Given the description of an element on the screen output the (x, y) to click on. 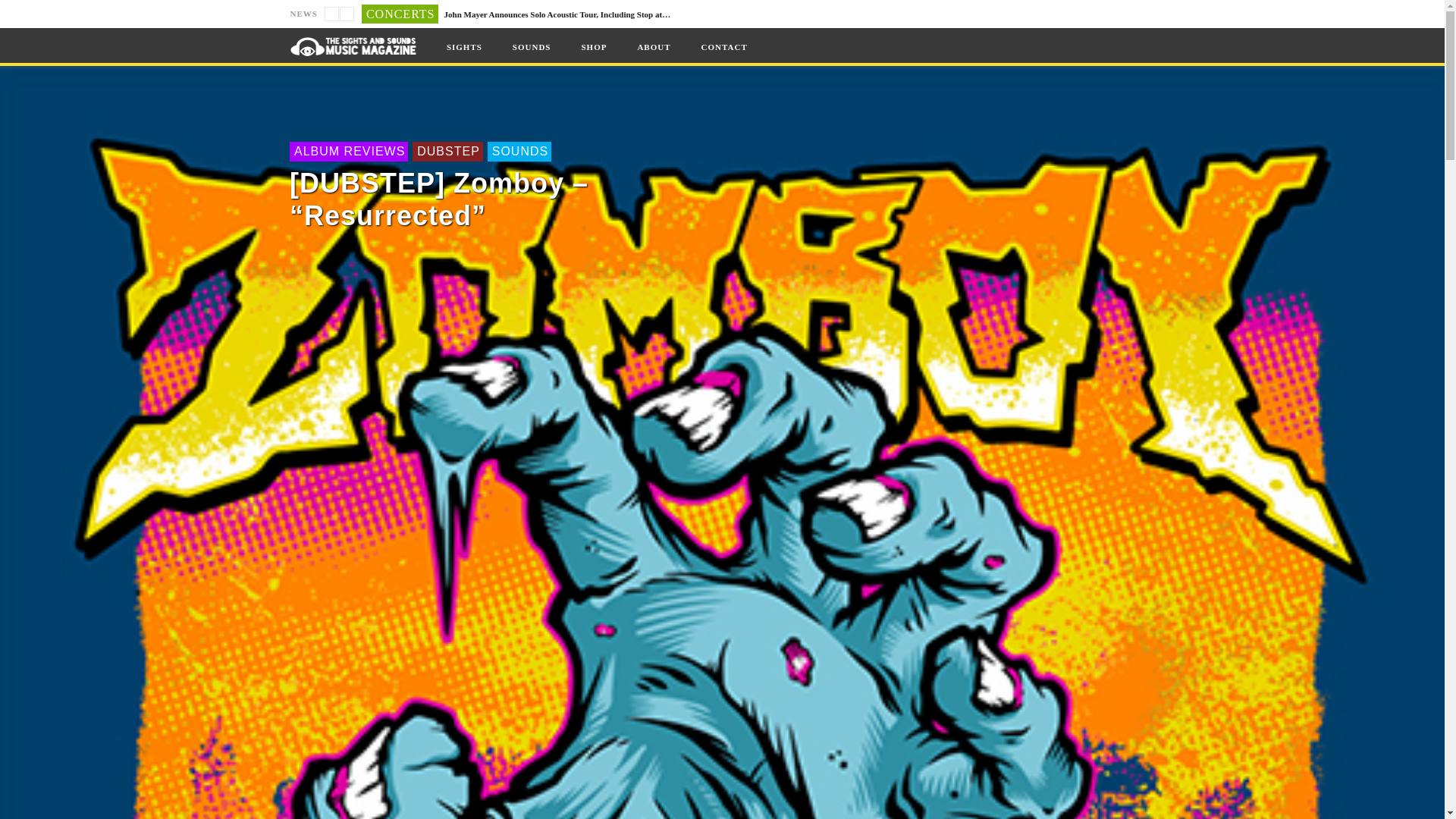
Facebook (999, 13)
SIGHTS (463, 46)
YouTube (1028, 13)
SOUNDS (531, 46)
View all posts in Concerts (400, 13)
CONCERTS (400, 13)
